Given the description of an element on the screen output the (x, y) to click on. 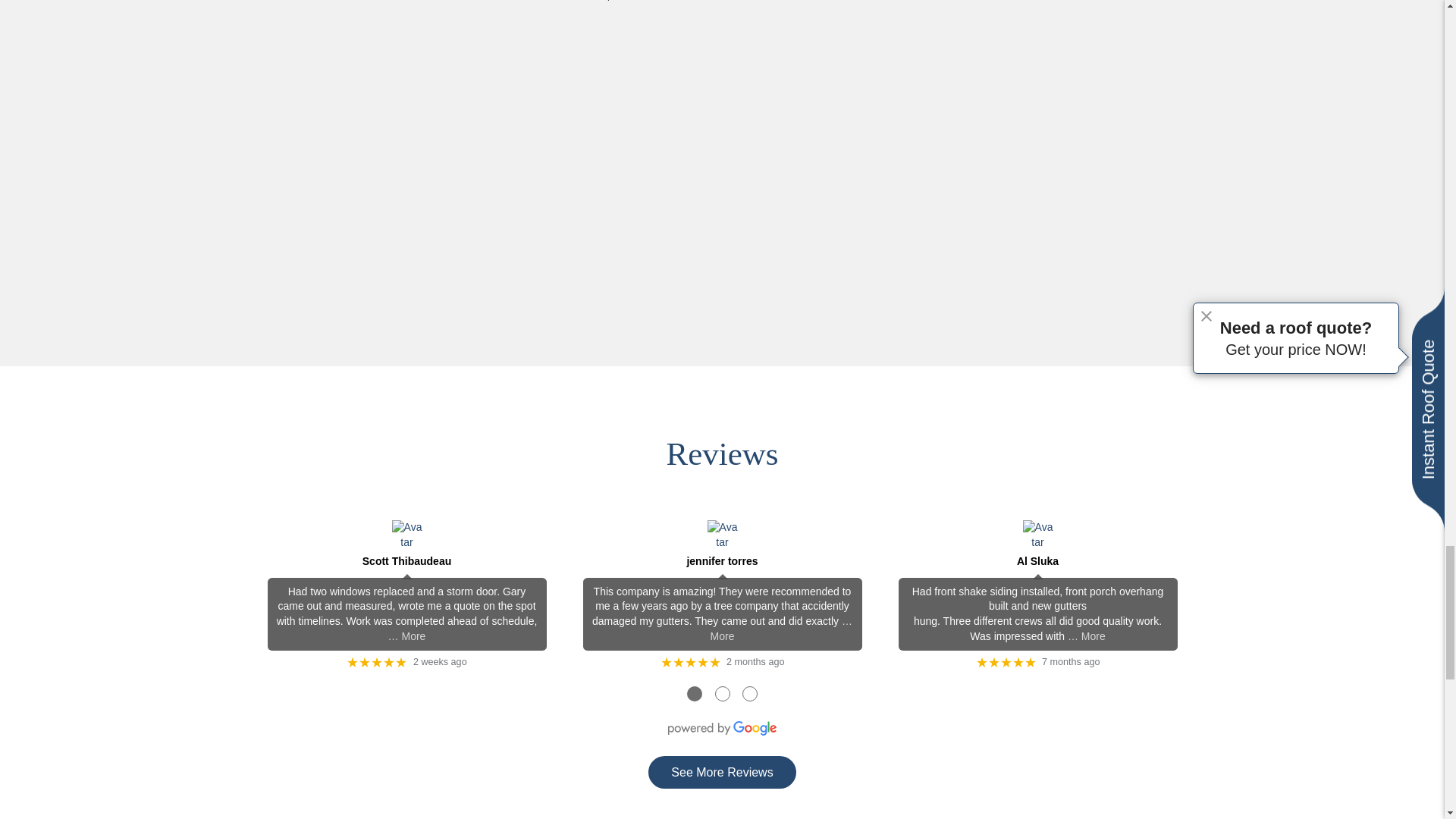
Home Exteriors Austin Carr (486, 173)
Powered by Google (722, 728)
Home Exteriors Promo (955, 173)
